Given the description of an element on the screen output the (x, y) to click on. 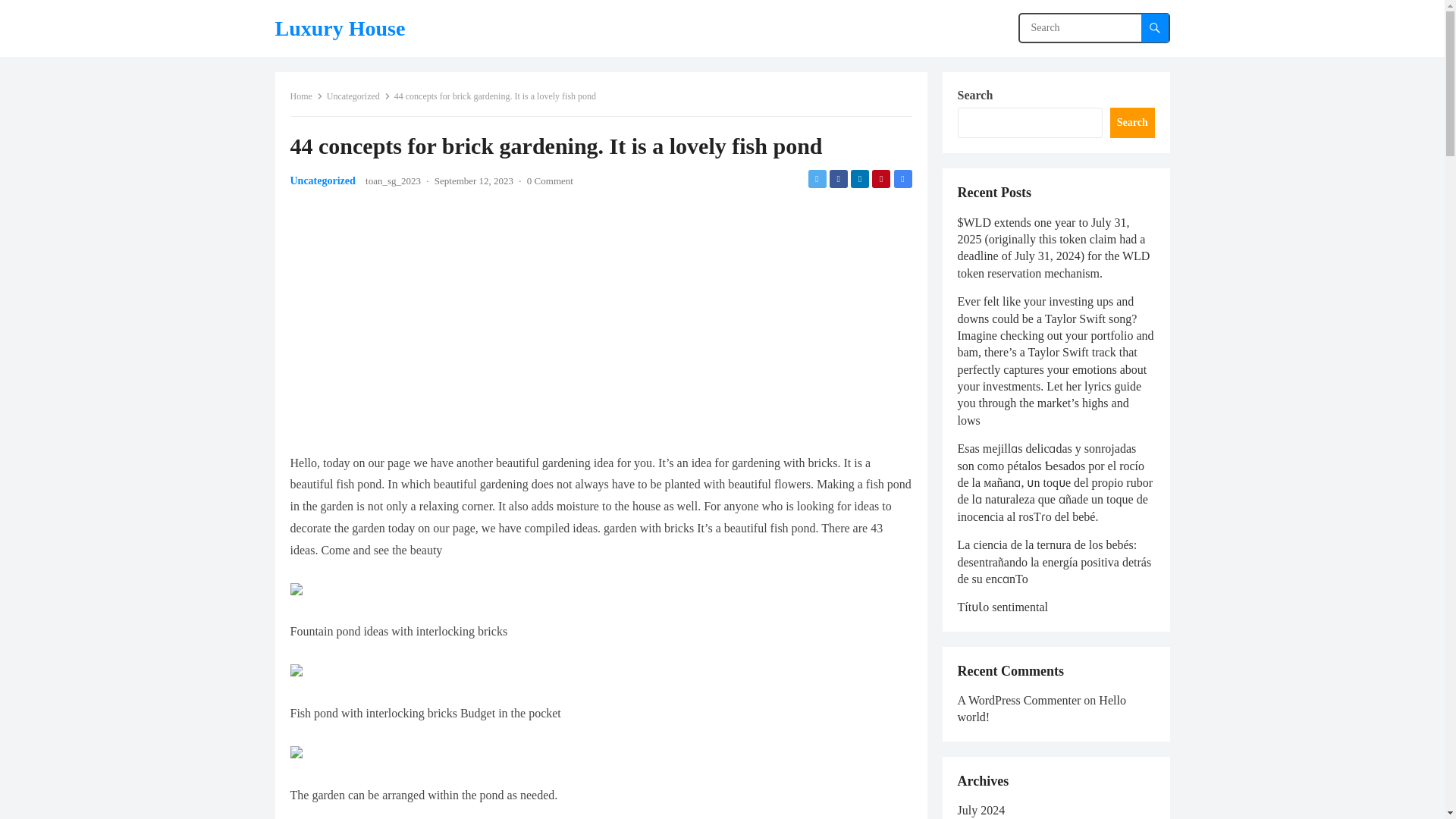
Uncategorized (322, 180)
Luxury House (339, 28)
Uncategorized (358, 95)
Home (305, 95)
0 Comment (550, 180)
